Given the description of an element on the screen output the (x, y) to click on. 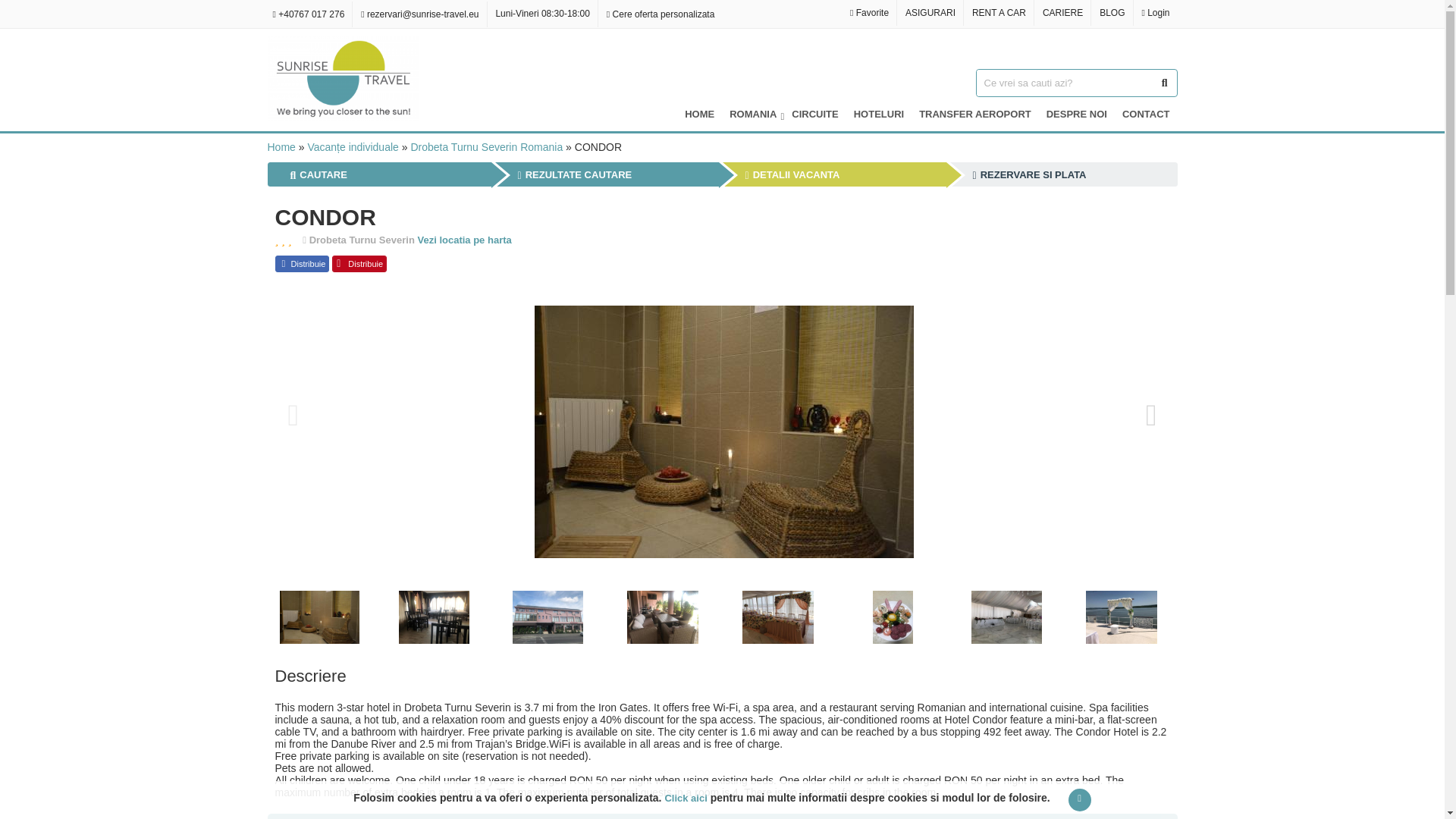
CIRCUITE (814, 113)
BLOG (1112, 12)
Click aici (684, 797)
ASIGURARI (930, 12)
Cere oferta personalizata (660, 14)
Luni-Vineri 08:30-18:00 (542, 13)
Drobeta Turnu Severin Romania (486, 146)
REZULTATE CAUTARE (573, 174)
CAUTARE (317, 174)
CARIERE (1062, 12)
